Given the description of an element on the screen output the (x, y) to click on. 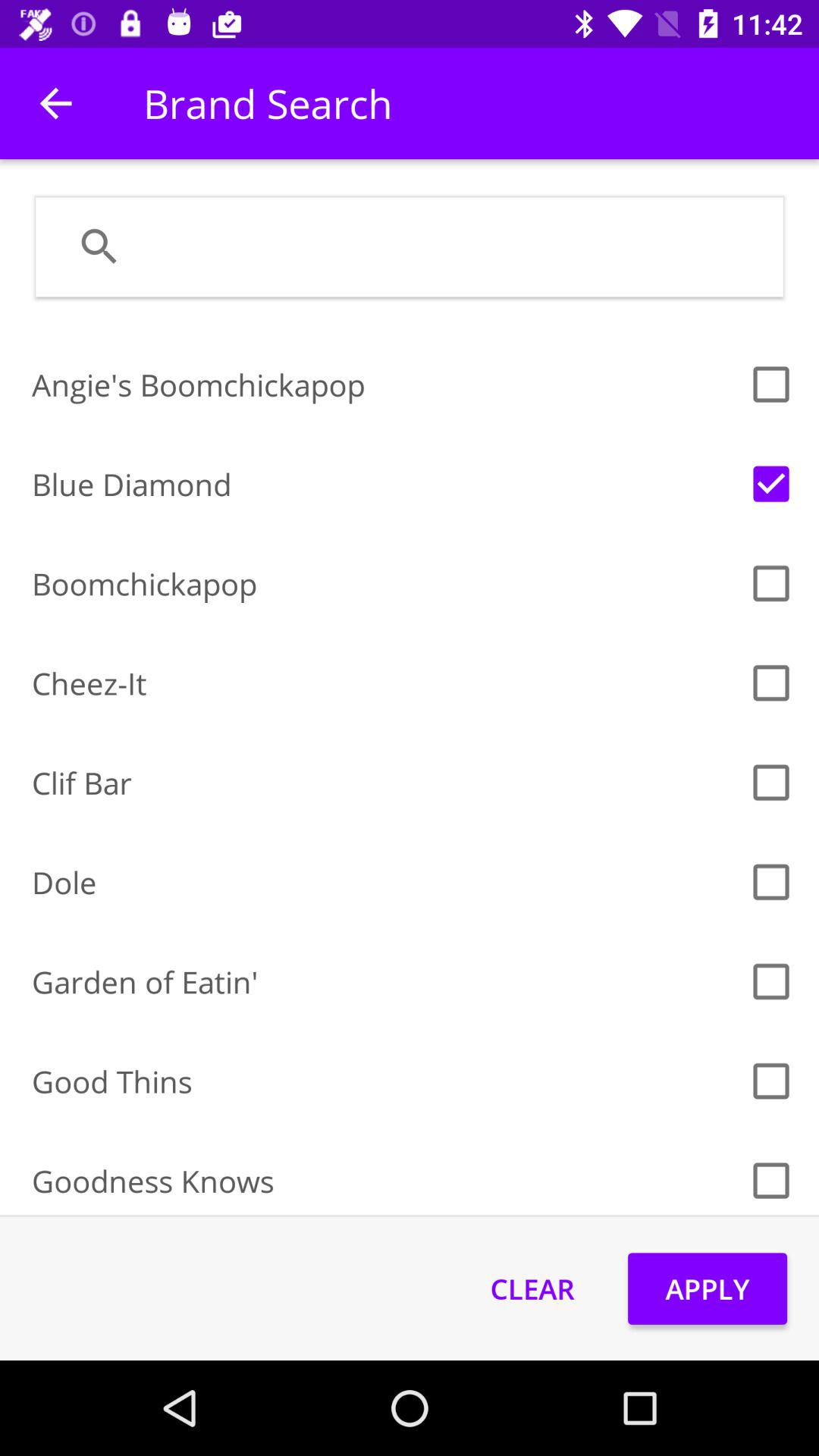
flip to the clif bar icon (385, 782)
